Given the description of an element on the screen output the (x, y) to click on. 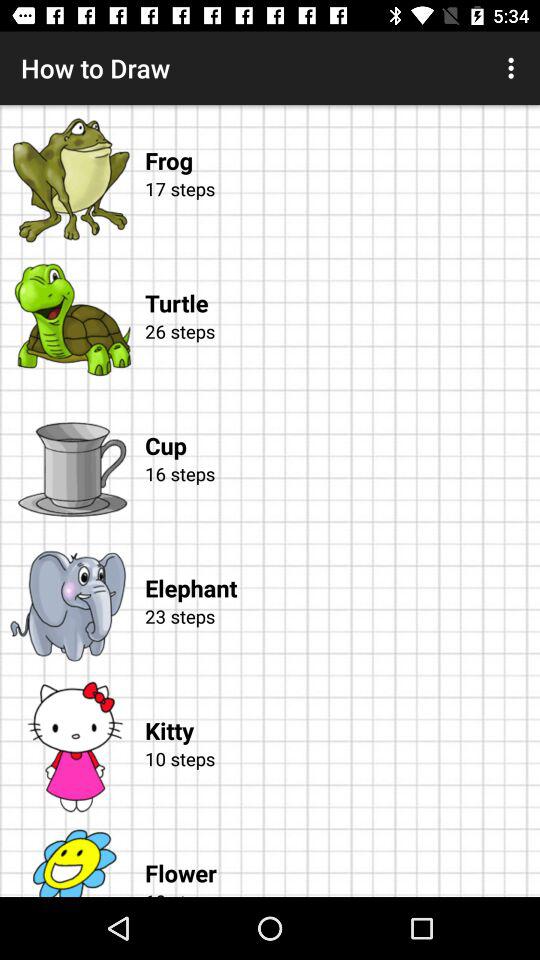
press the app below cup app (339, 496)
